Given the description of an element on the screen output the (x, y) to click on. 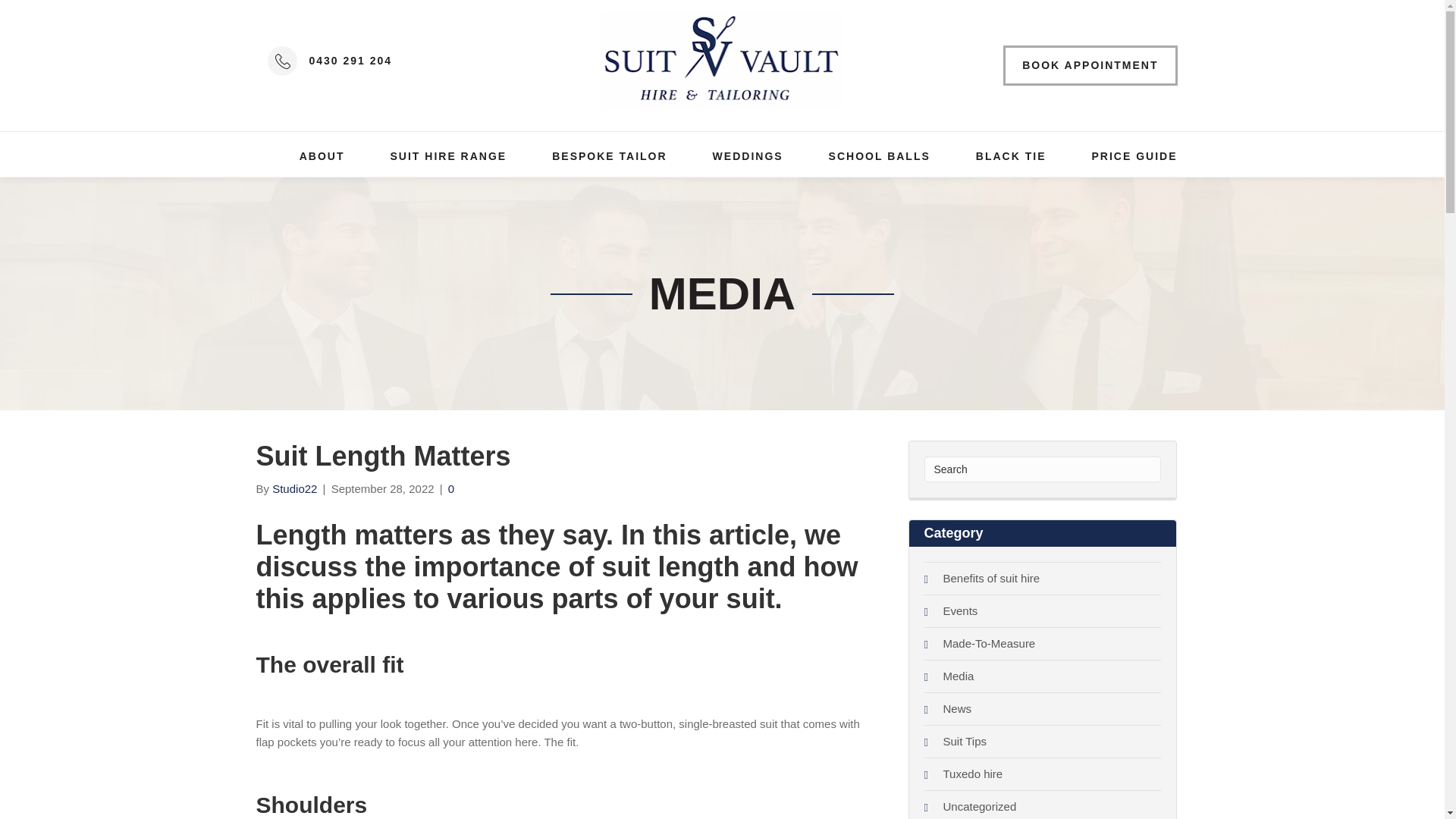
SUIT HIRE RANGE (448, 156)
Type and press Enter to search. (1041, 469)
BLACK TIE (1010, 156)
BESPOKE TAILOR (608, 156)
BOOK APPOINTMENT (1089, 65)
PRICE GUIDE (1133, 156)
0 (451, 488)
ABOUT (322, 156)
0430 291 204 (350, 60)
Search (1041, 469)
Events (960, 610)
Benefits of suit hire (992, 577)
WEDDINGS (748, 156)
Made-To-Measure (989, 643)
Media (958, 675)
